Given the description of an element on the screen output the (x, y) to click on. 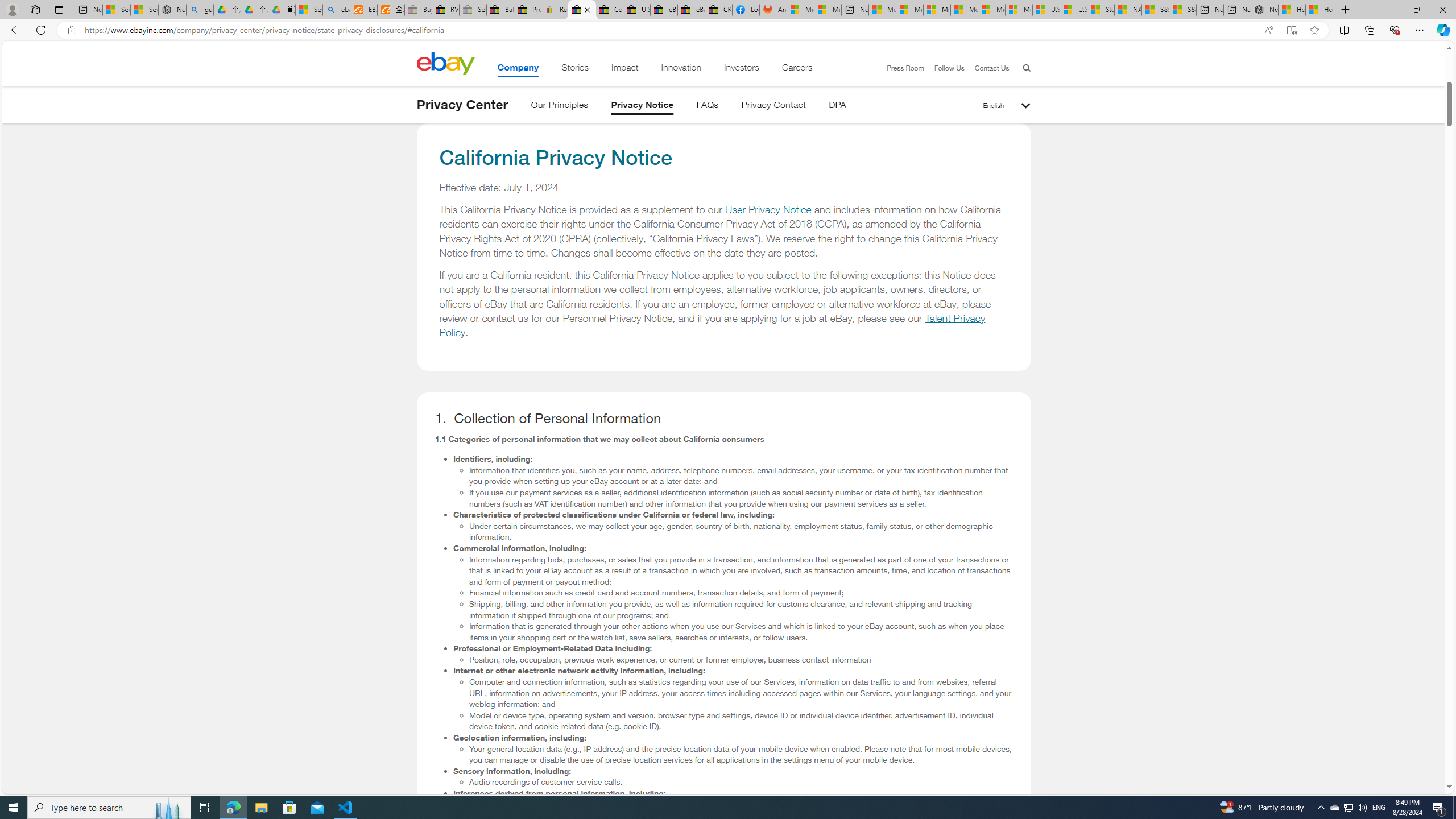
Privacy Notice (642, 107)
